Given the description of an element on the screen output the (x, y) to click on. 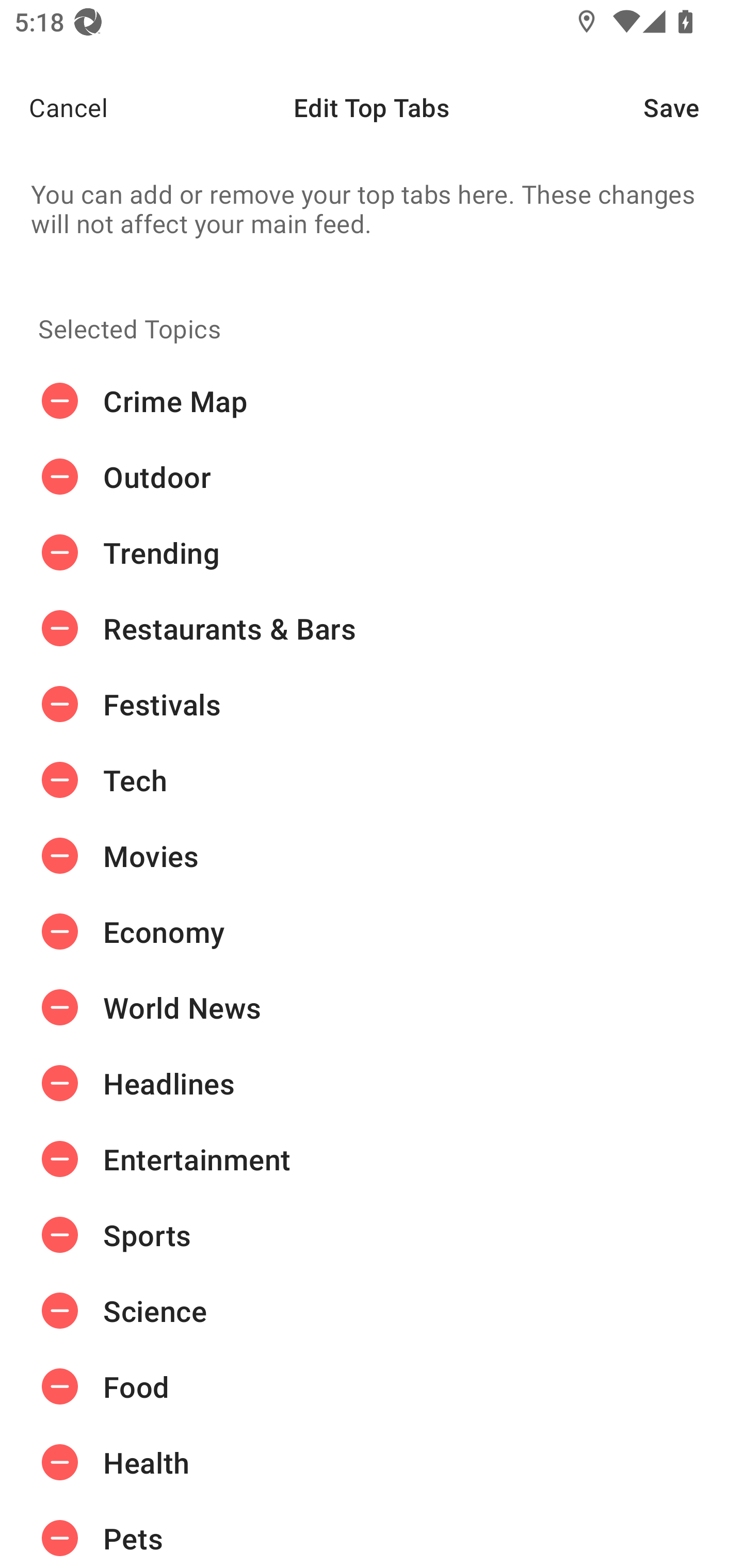
Cancel (53, 106)
Save (693, 106)
Crime Map (371, 401)
Outdoor (371, 476)
Trending (371, 552)
Restaurants & Bars (371, 628)
Festivals (371, 703)
Tech (371, 779)
Movies (371, 855)
Economy (371, 931)
World News (371, 1007)
Headlines (371, 1083)
Entertainment (371, 1158)
Sports (371, 1234)
Science (371, 1310)
Food (371, 1386)
Health (371, 1462)
Pets (371, 1534)
